Given the description of an element on the screen output the (x, y) to click on. 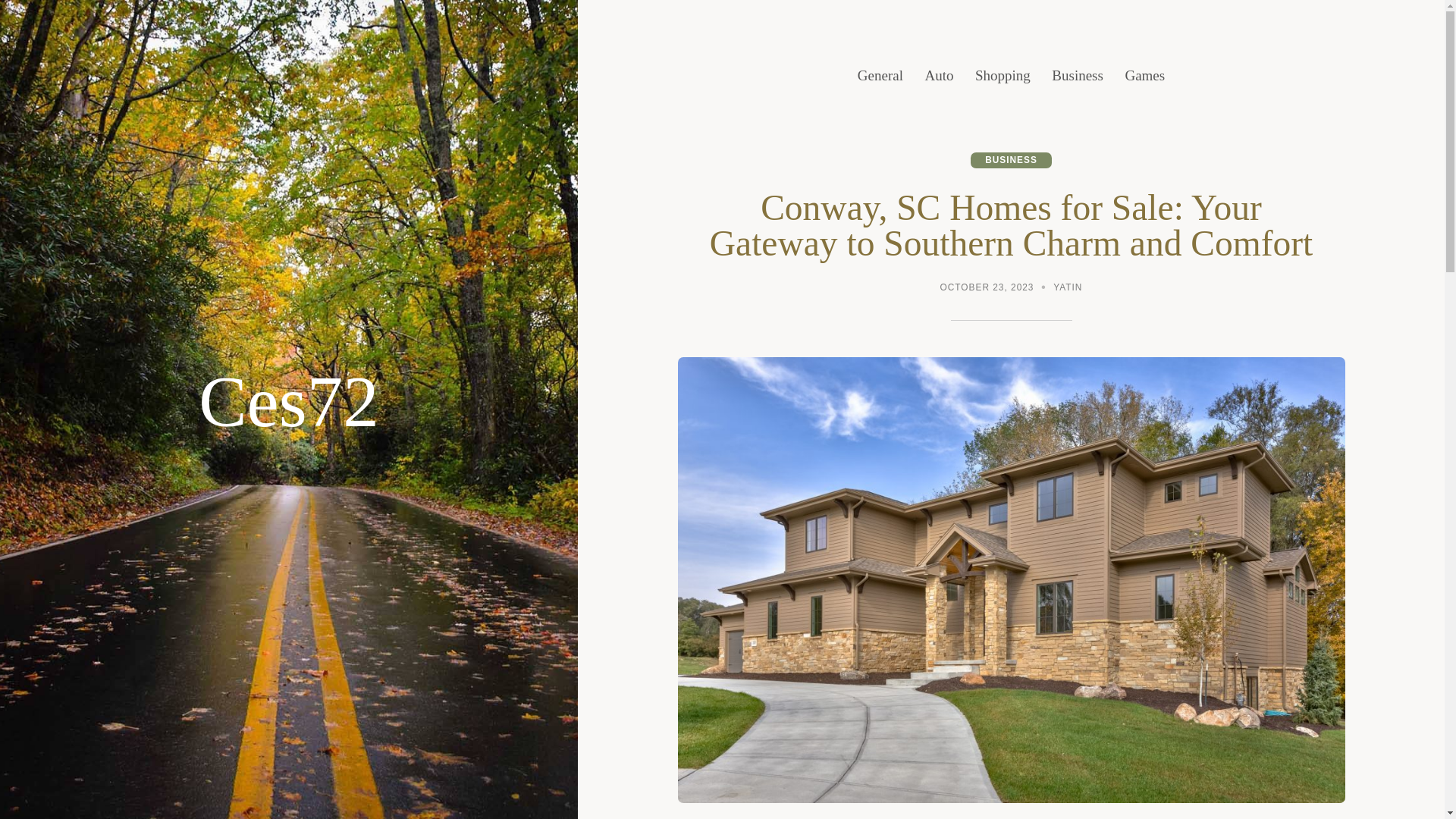
BUSINESS (1011, 160)
Shopping (1002, 76)
Games (1144, 76)
Business (1077, 76)
Ces72 (288, 402)
YATIN (1066, 288)
OCTOBER 23, 2023 (986, 288)
General (879, 76)
